Given the description of an element on the screen output the (x, y) to click on. 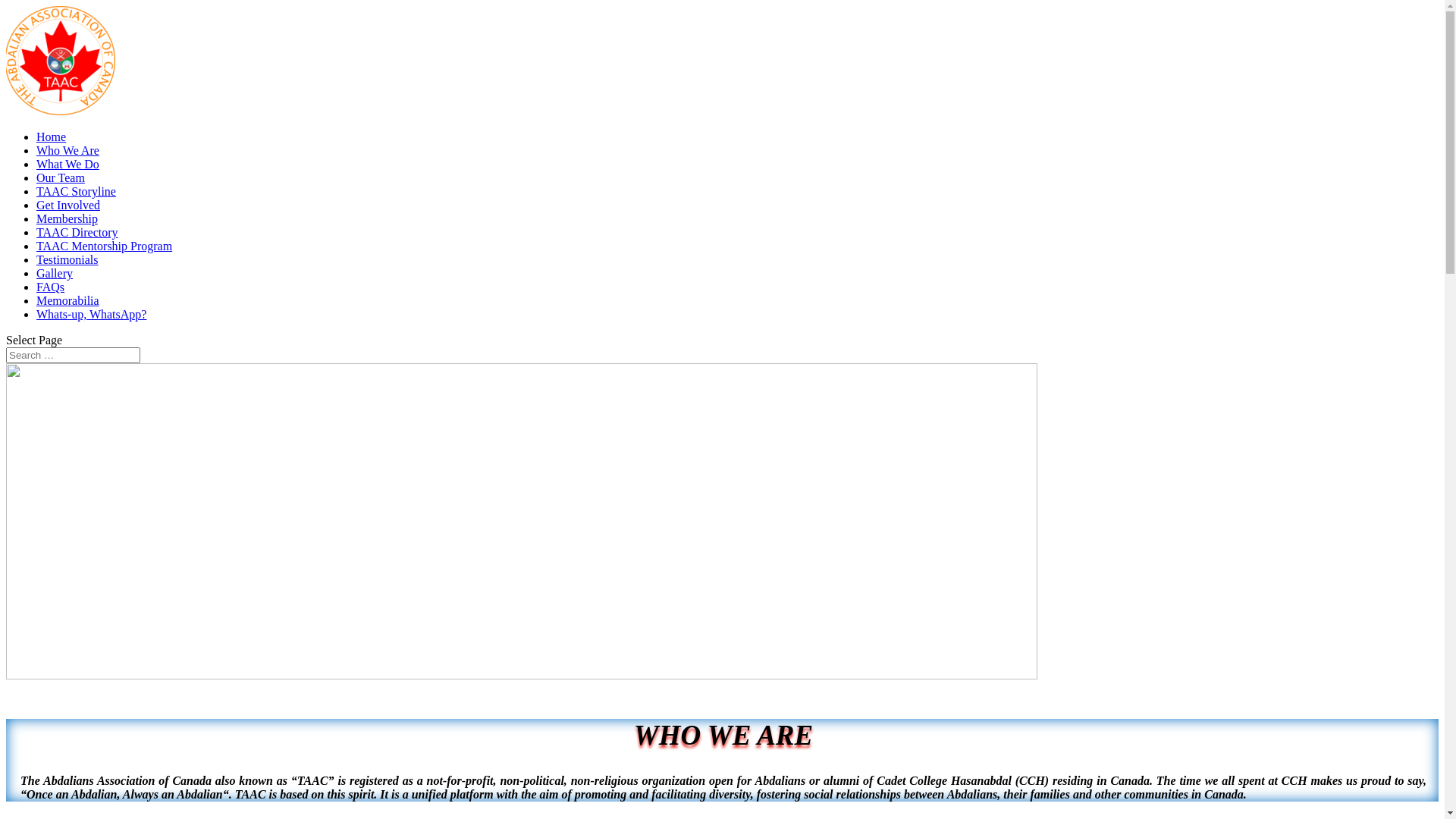
TAAC Storyline Element type: text (76, 191)
TAAC Directory Element type: text (77, 231)
Our Team Element type: text (60, 177)
2035 Element type: hover (521, 521)
FAQs Element type: text (50, 286)
Testimonials Element type: text (67, 259)
Who We Are Element type: text (67, 150)
What We Do Element type: text (67, 163)
Membership Element type: text (66, 218)
Memorabilia Element type: text (67, 300)
Gallery Element type: text (54, 272)
Get Involved Element type: text (68, 204)
2035 Element type: hover (521, 674)
Search for: Element type: hover (73, 355)
Whats-up, WhatsApp? Element type: text (91, 313)
TAAC Mentorship Program Element type: text (104, 245)
Home Element type: text (50, 136)
